Given the description of an element on the screen output the (x, y) to click on. 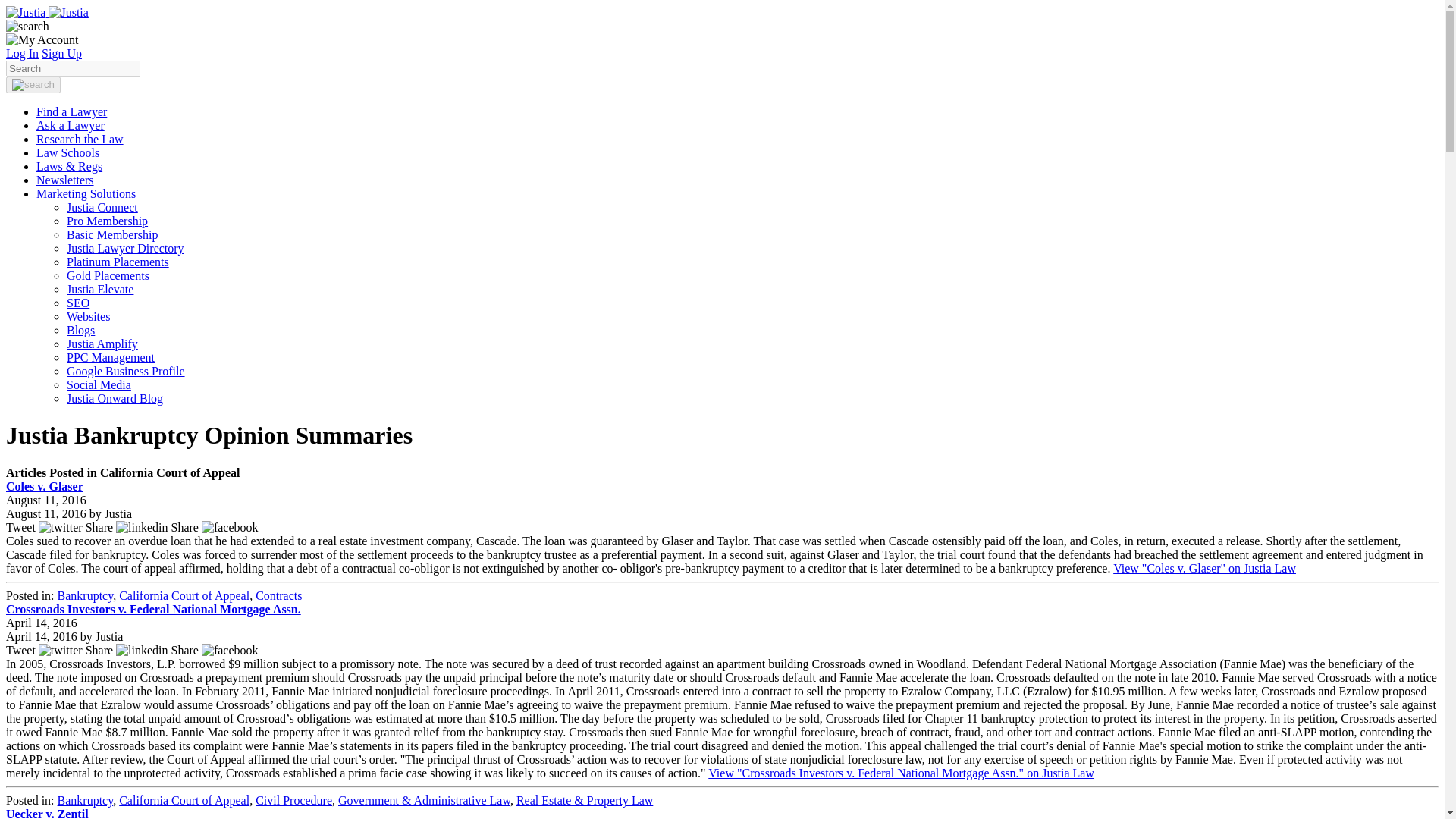
Share (128, 649)
California Court of Appeal (183, 594)
Justia Onward Blog (114, 398)
Bankruptcy (85, 594)
Share (215, 649)
Log In (22, 52)
View all posts in Contracts (278, 594)
Gold Placements (107, 275)
Justia Bankruptcy Opinion Summaries (46, 11)
